Given the description of an element on the screen output the (x, y) to click on. 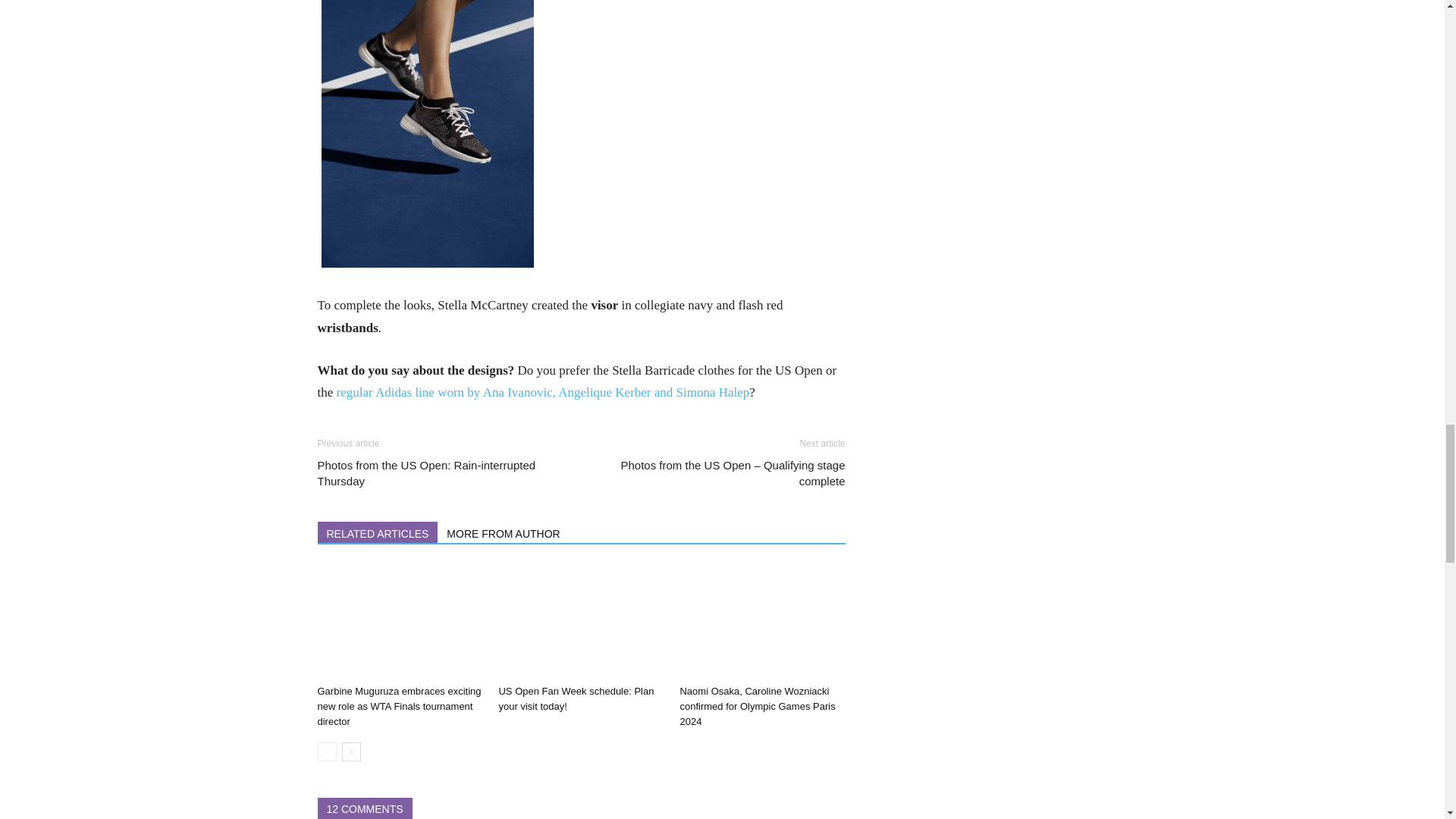
US Open Fan Week schedule: Plan your visit today! (580, 621)
US Open Fan Week schedule: Plan your visit today! (575, 698)
